Given the description of an element on the screen output the (x, y) to click on. 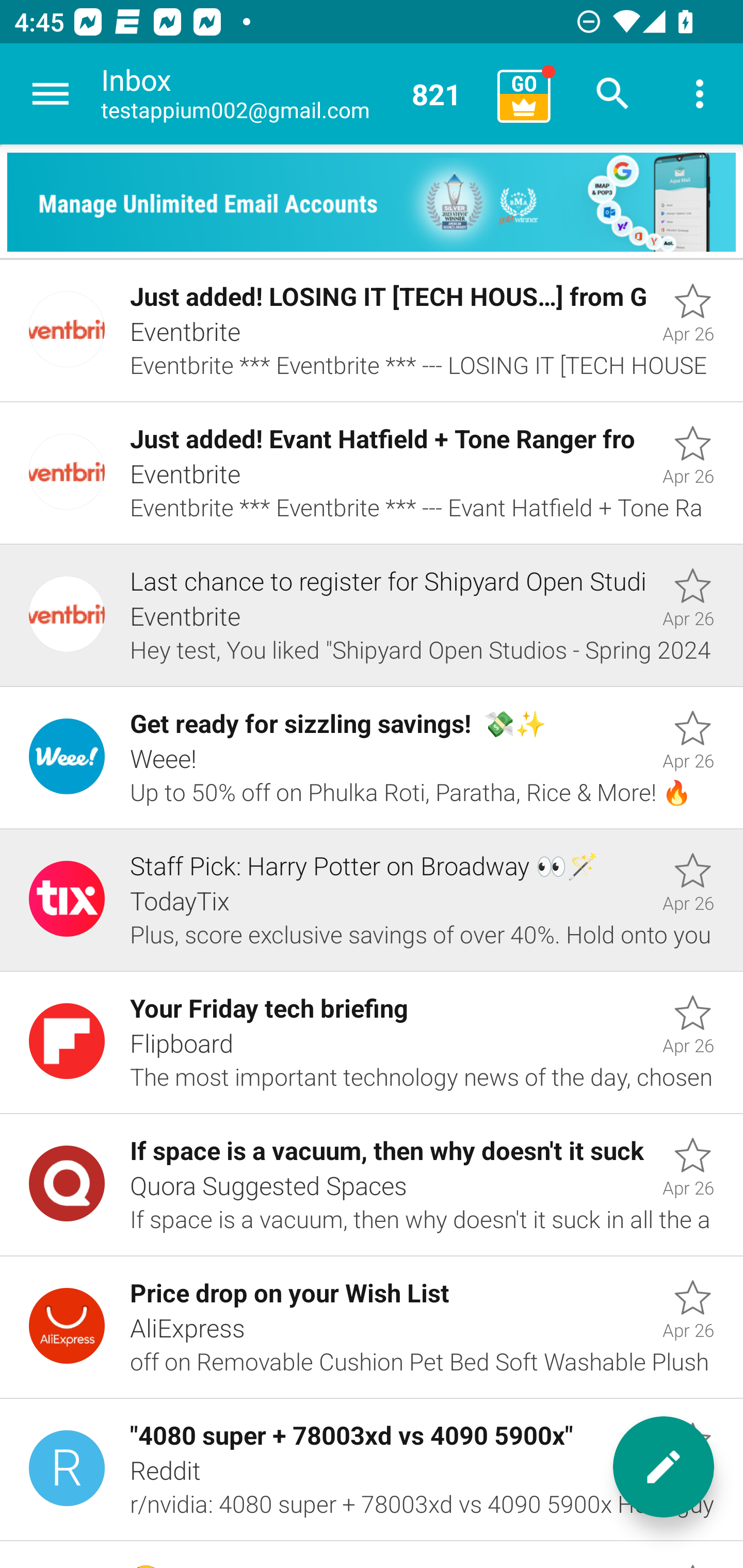
Navigate up (50, 93)
Inbox testappium002@gmail.com 821 (291, 93)
Search (612, 93)
More options (699, 93)
New message (663, 1466)
